Given the description of an element on the screen output the (x, y) to click on. 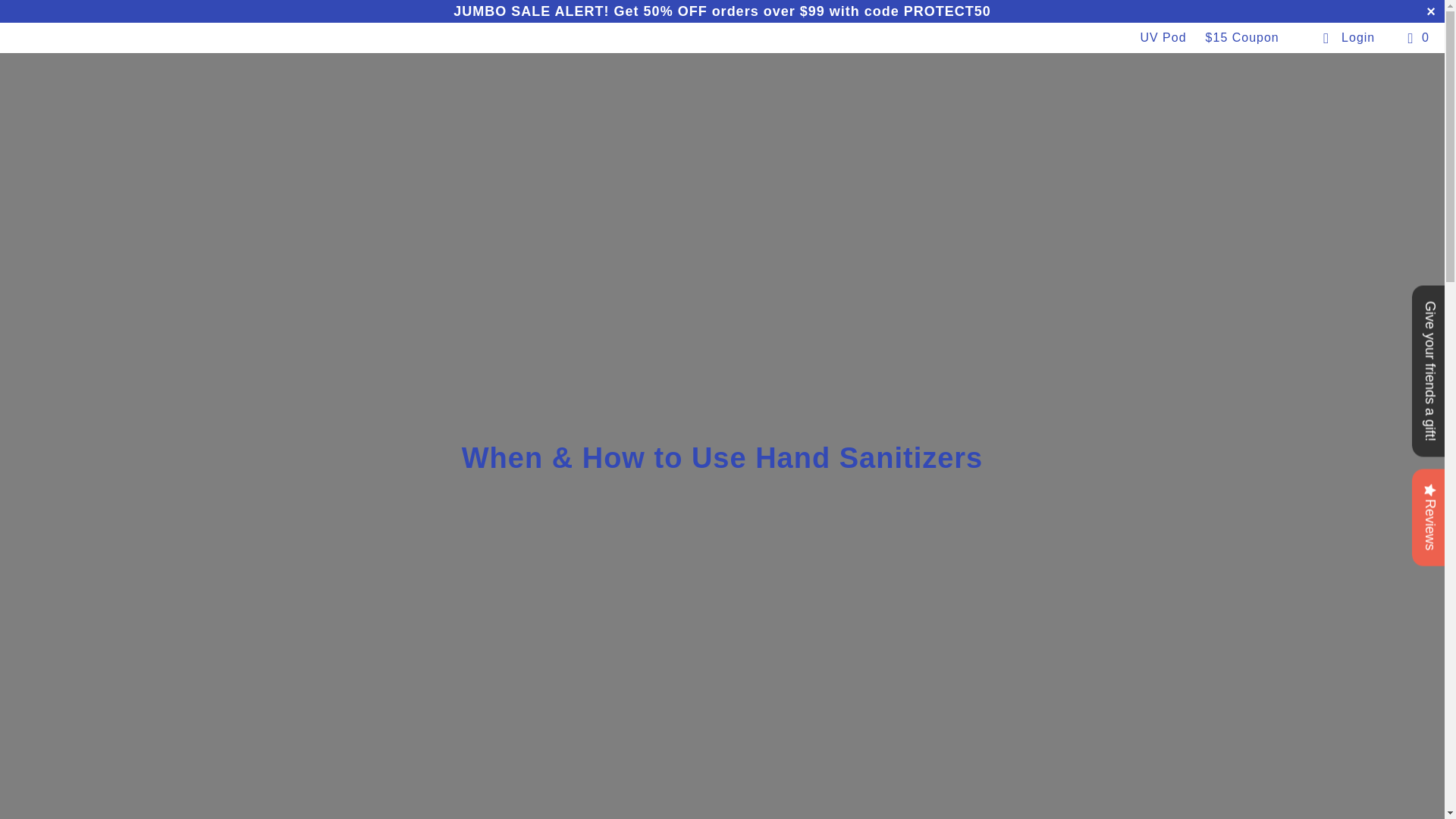
My Account  (1347, 37)
Login (1347, 37)
UV Pod (1163, 37)
